Given the description of an element on the screen output the (x, y) to click on. 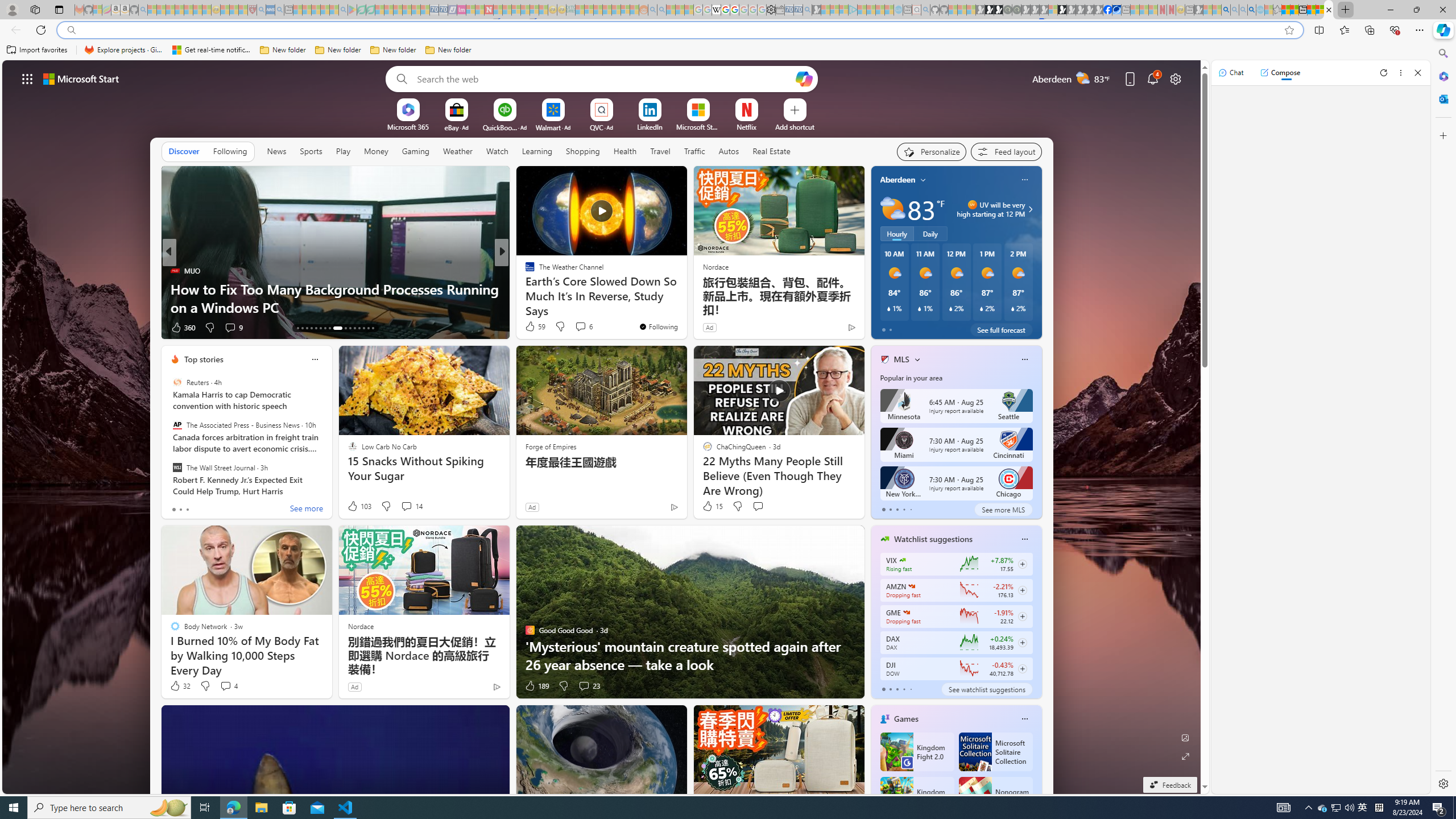
189 Like (536, 685)
AQI & Health | AirNow.gov (1116, 9)
Import favorites (36, 49)
UV will be very high starting at 12 PM (1028, 208)
Health (624, 151)
Home | Sky Blue Bikes - Sky Blue Bikes - Sleeping (898, 9)
AutomationID: tab-17 (315, 328)
